Given the description of an element on the screen output the (x, y) to click on. 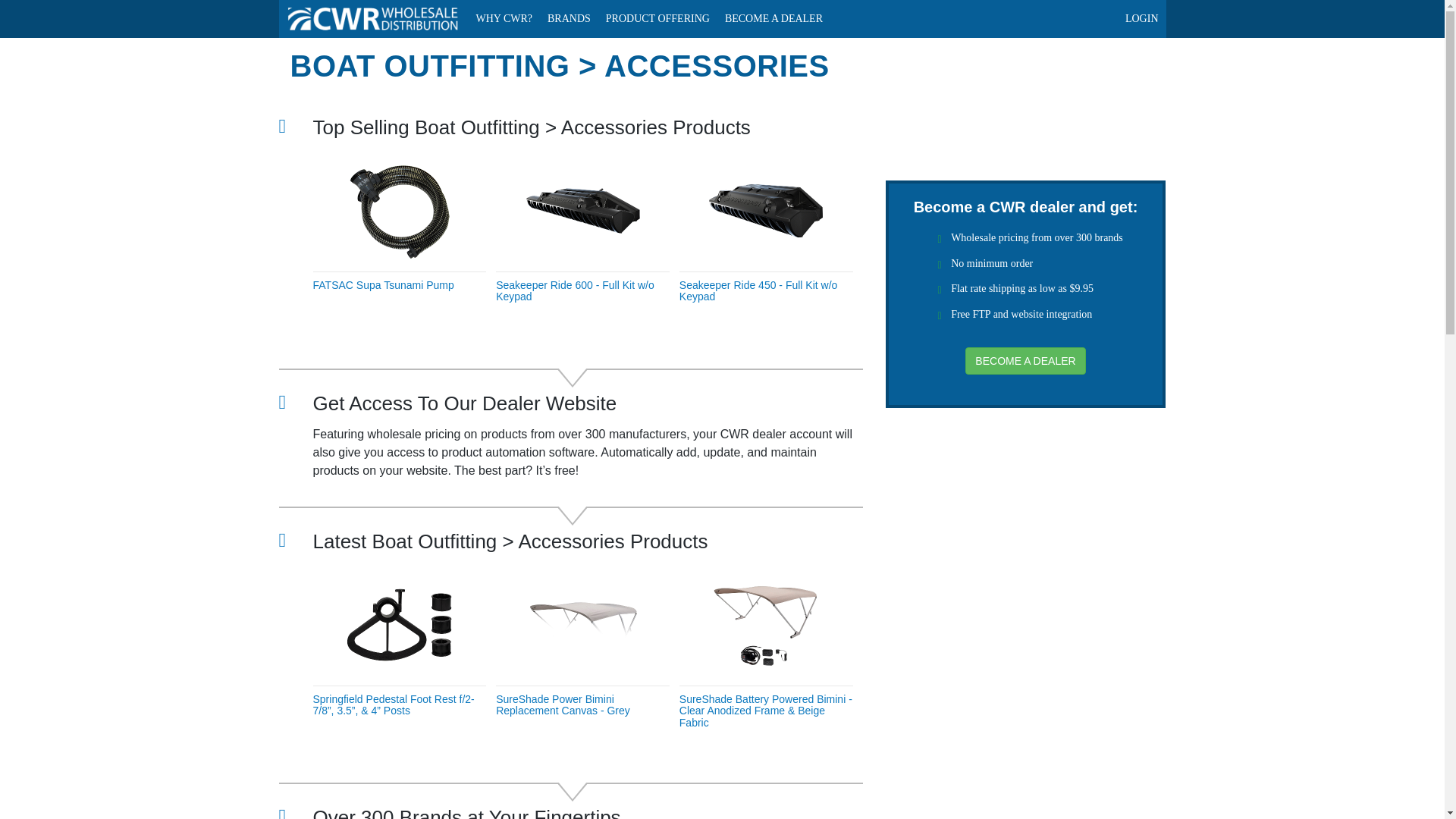
PRODUCT OFFERING (657, 18)
LOGIN (1142, 18)
FATSAC Supa Tsunami Pump (382, 285)
WHY CWR? (504, 18)
SureShade Power Bimini Replacement Canvas - Grey (563, 704)
Login (1142, 18)
BRANDS (569, 18)
BECOME A DEALER (773, 18)
Become a Dealer (773, 18)
